Given the description of an element on the screen output the (x, y) to click on. 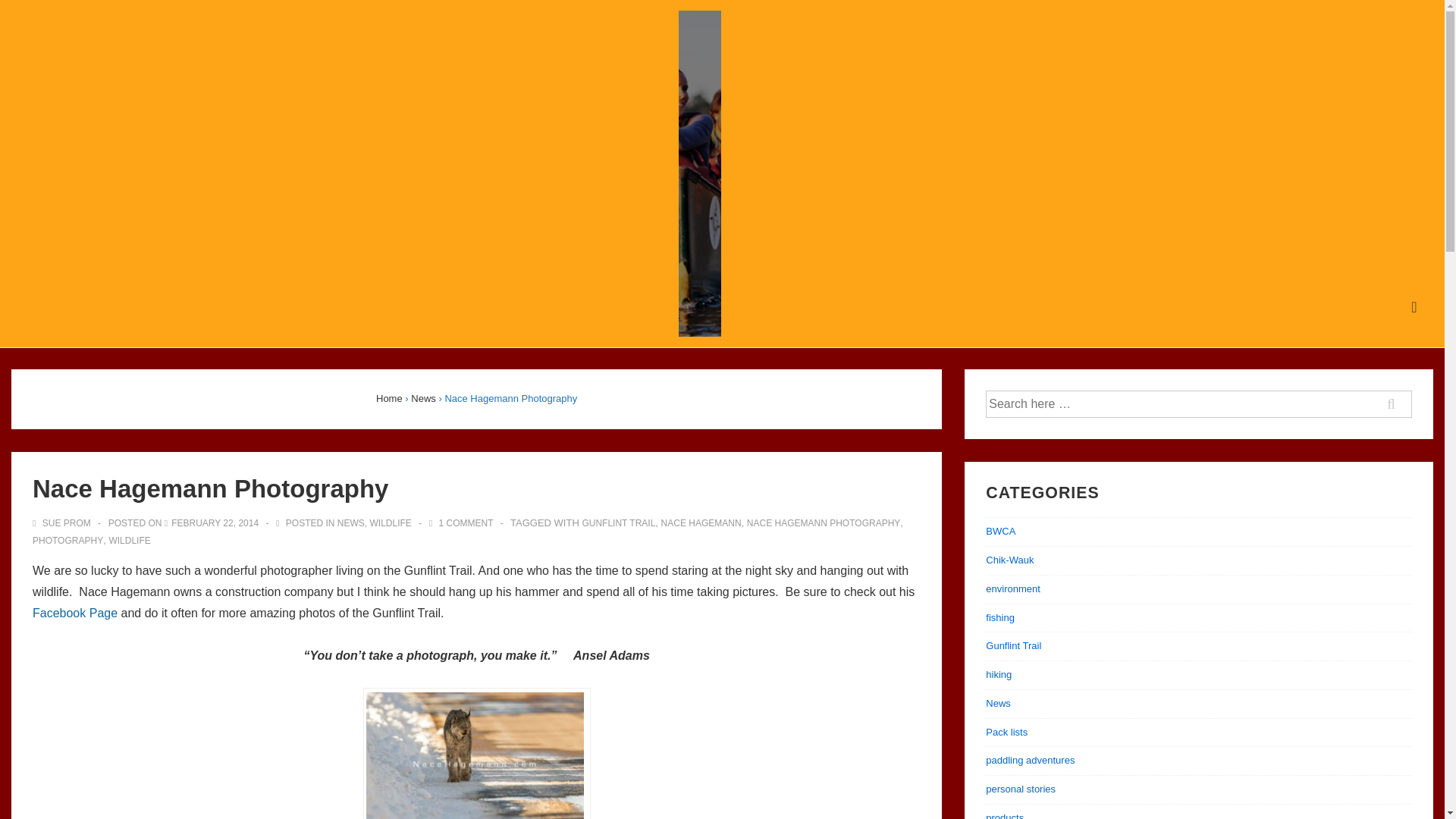
SUE PROM (62, 522)
Facebook Page (74, 612)
News (422, 398)
1 COMMENT (466, 522)
NEWS (351, 522)
Lynx on the Gunflint Trail (475, 755)
Nace Hagemann Photography (215, 522)
WILDLIFE (389, 522)
Home (389, 398)
PHOTOGRAPHY (67, 540)
View all posts by Sue Prom (62, 522)
GUNFLINT TRAIL (617, 522)
BWCA (999, 531)
FEBRUARY 22, 2014 (215, 522)
NACE HAGEMANN PHOTOGRAPHY (822, 522)
